Given the description of an element on the screen output the (x, y) to click on. 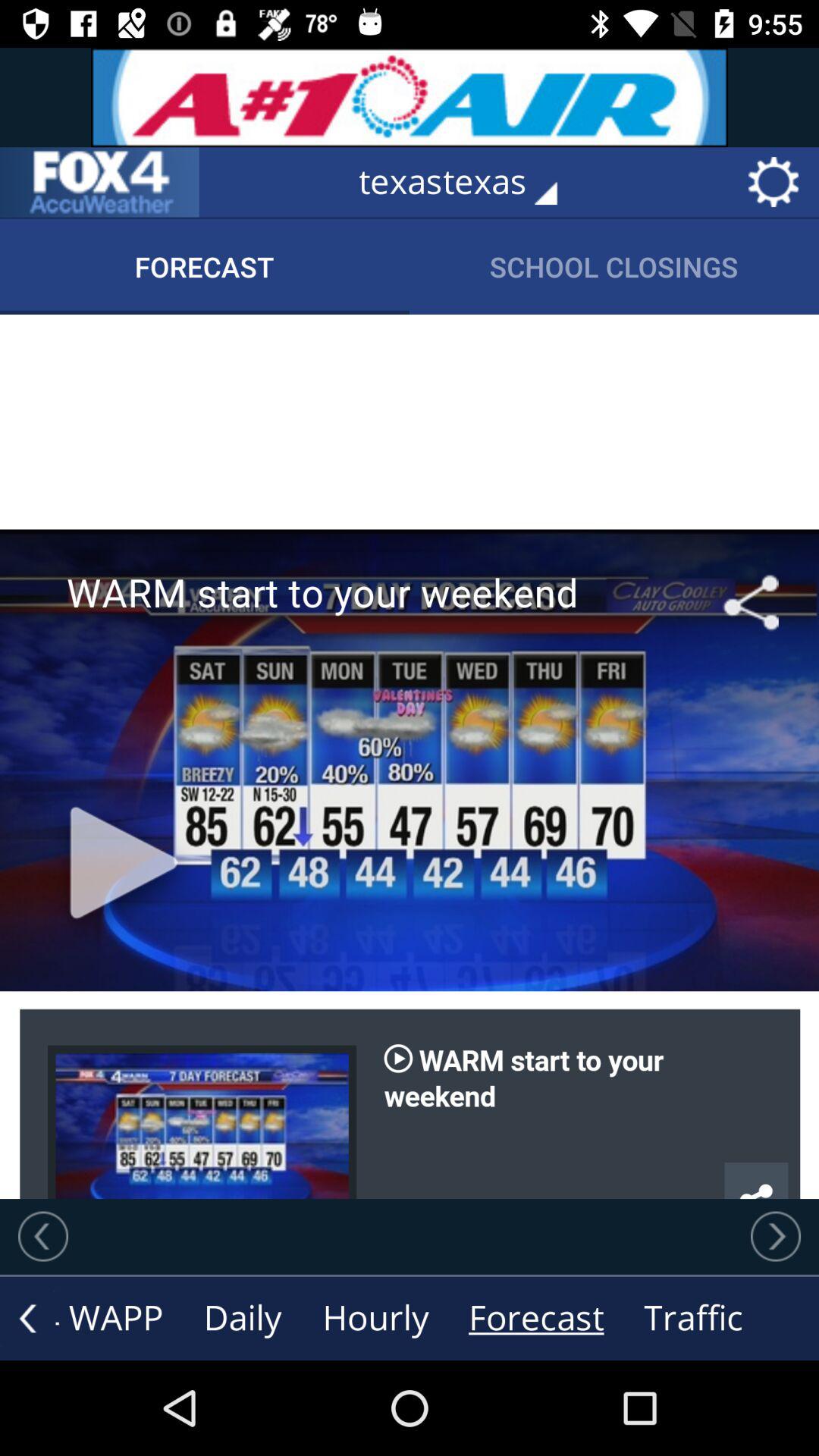
click texastexas icon (468, 182)
